Given the description of an element on the screen output the (x, y) to click on. 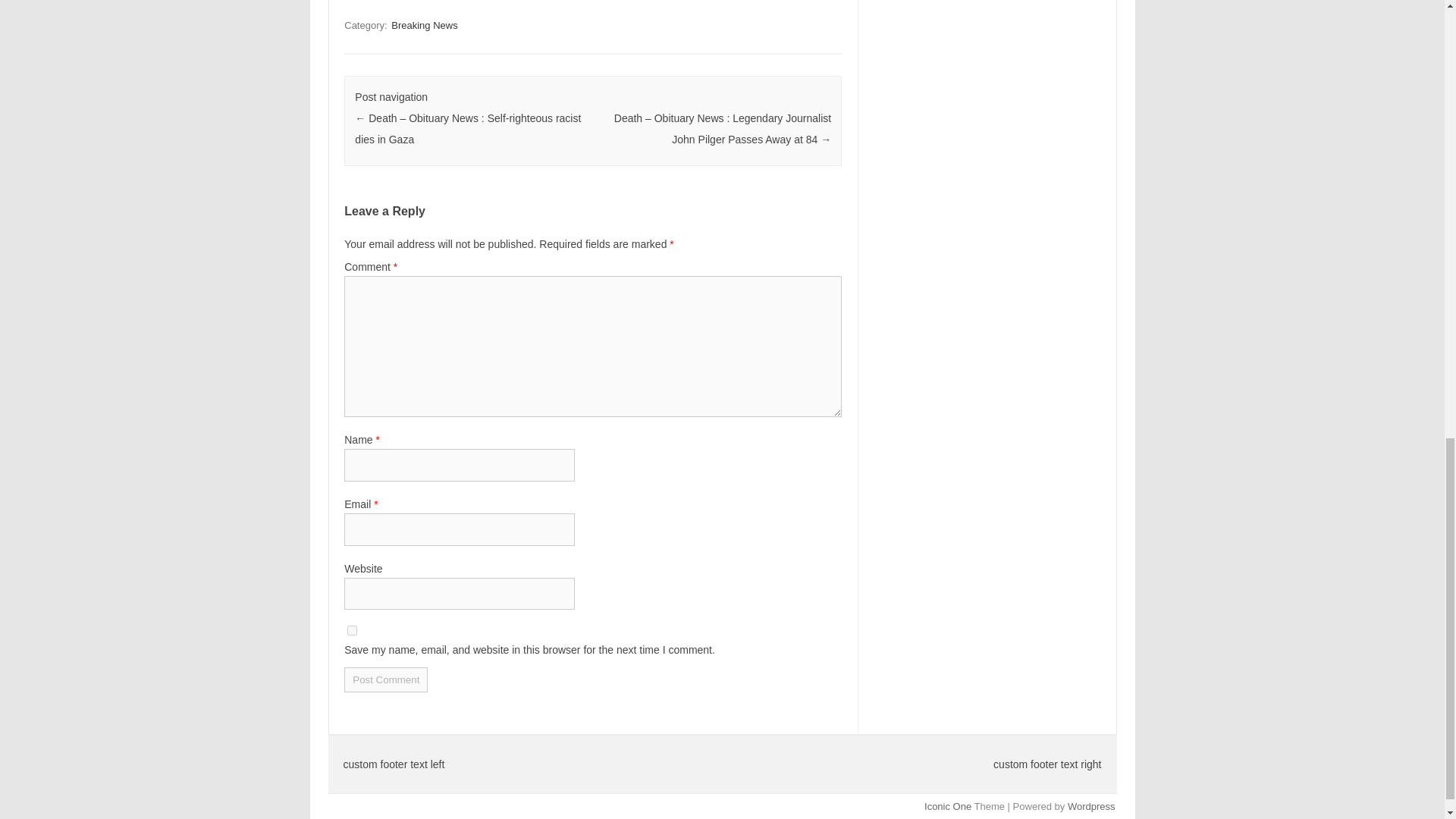
Wordpress (1091, 806)
Iconic One (947, 806)
Breaking News (424, 25)
yes (351, 630)
Post Comment (385, 679)
Post Comment (385, 679)
